Given the description of an element on the screen output the (x, y) to click on. 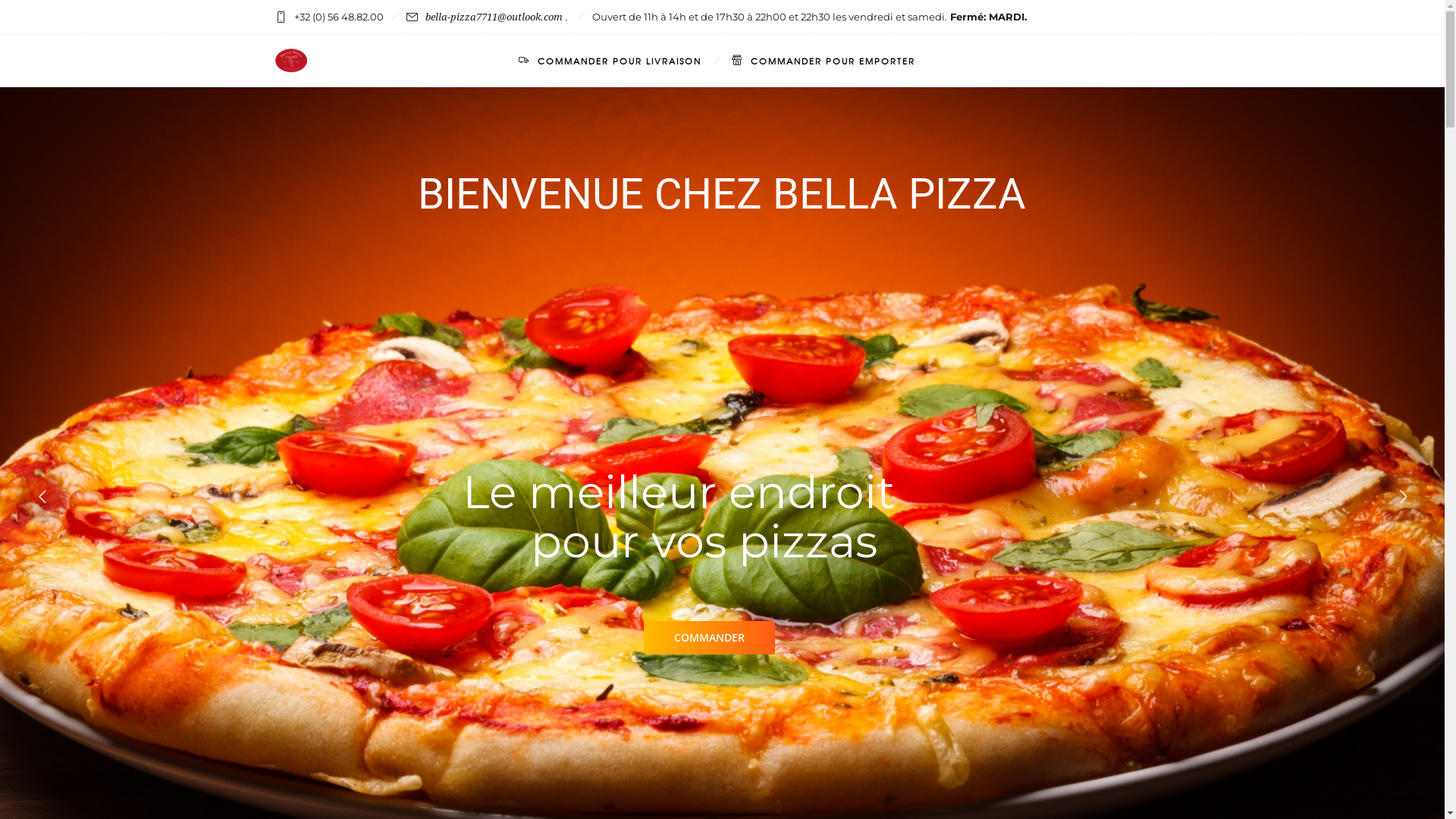
COMMANDER POUR LIVRAISON Element type: text (609, 60)
COMMANDER POUR EMPORTER Element type: text (822, 60)
COMMANDER Element type: text (708, 637)
bella-pizza7711@outlook.com Element type: text (492, 16)
